Given the description of an element on the screen output the (x, y) to click on. 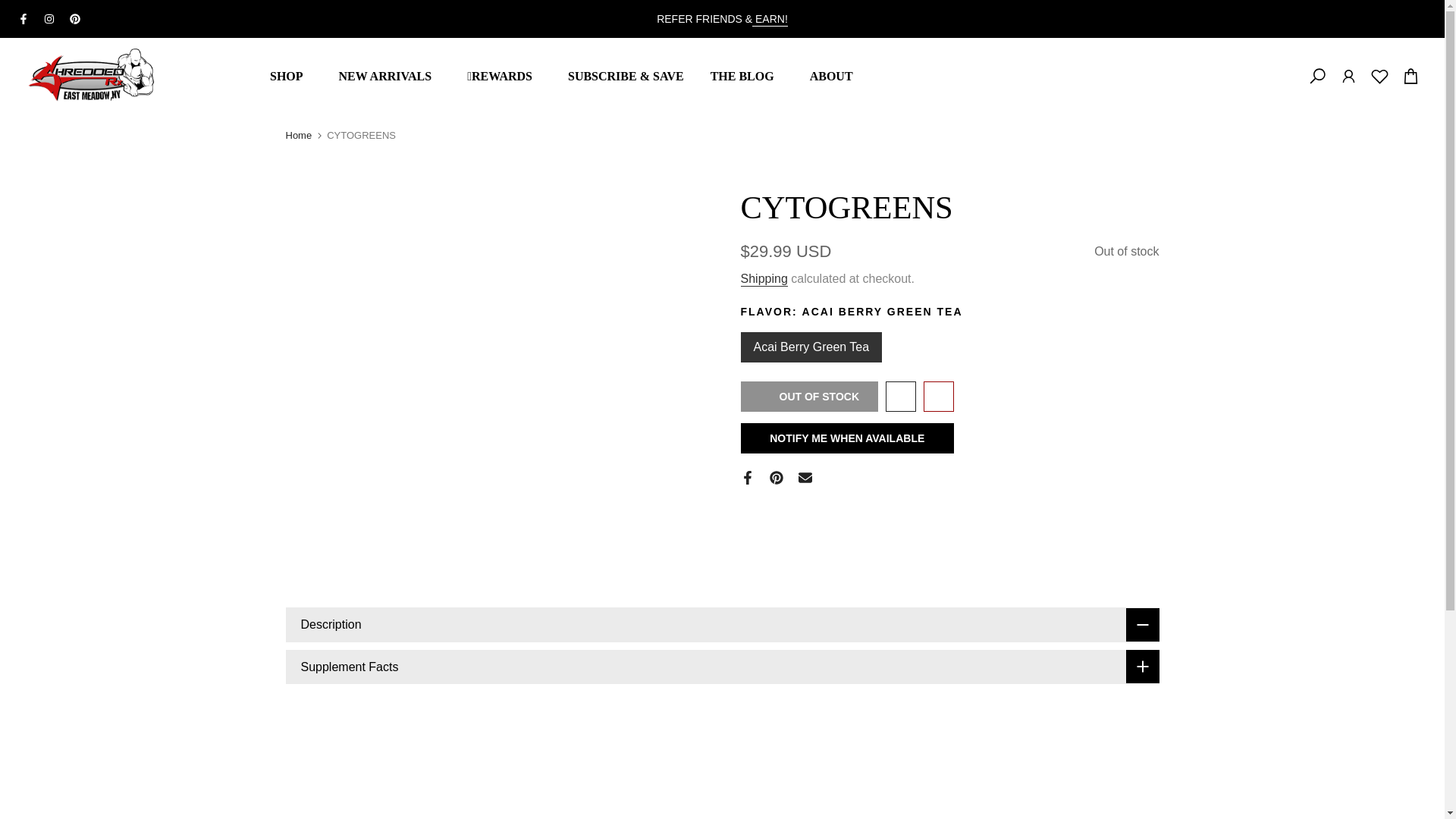
Home (298, 135)
Shipping (763, 278)
REFER A FRIEND (769, 19)
THE BLOG (746, 76)
NOTIFY ME WHEN AVAILABLE (846, 438)
OUT OF STOCK (808, 396)
Skip to content (10, 7)
Supplement Facts (721, 667)
NEW ARRIVALS (389, 76)
SHOP (290, 76)
Description (721, 624)
ABOUT (831, 76)
EARN! (769, 19)
